Given the description of an element on the screen output the (x, y) to click on. 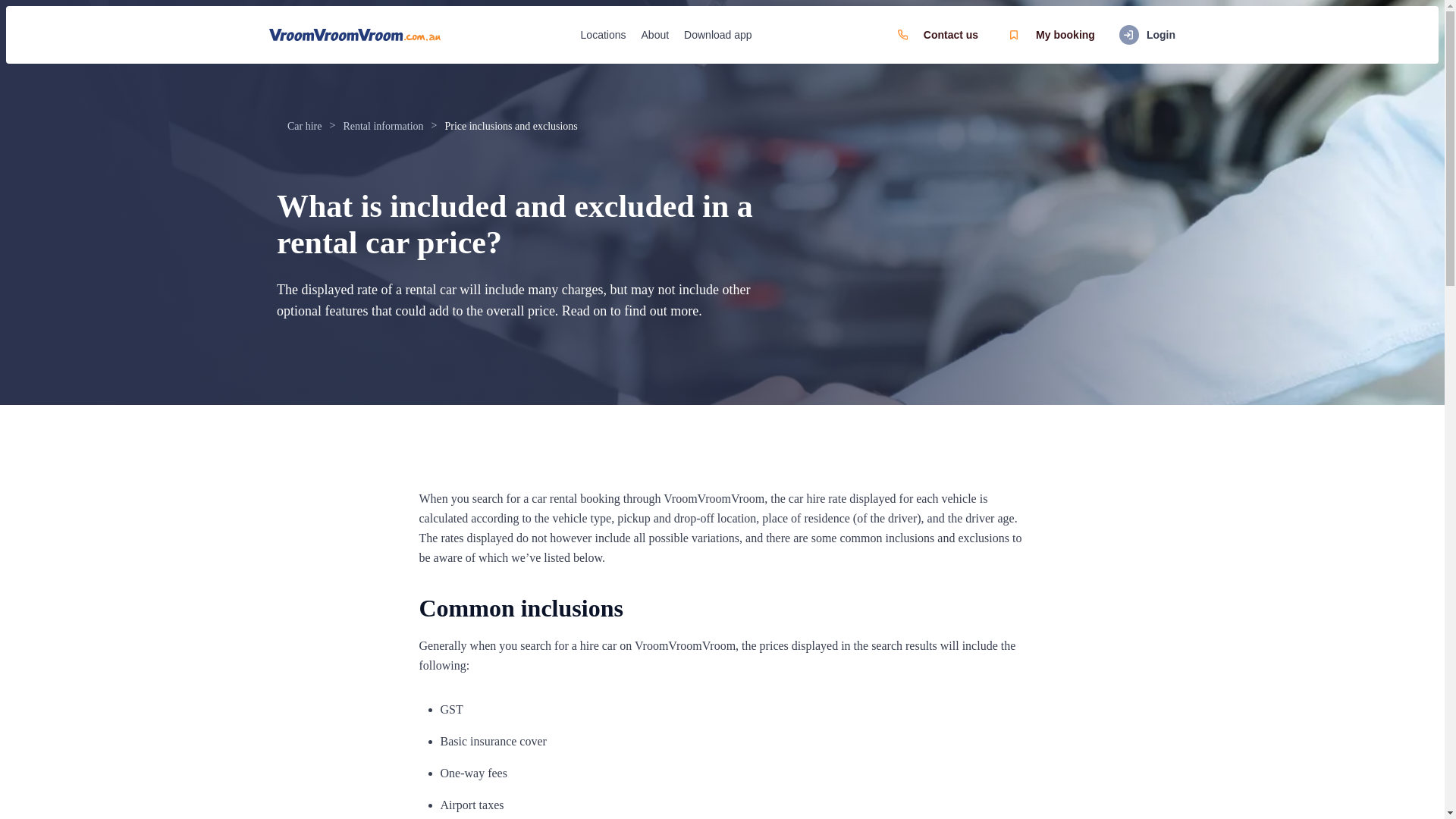
Login (1146, 35)
My booking (1049, 35)
